Given the description of an element on the screen output the (x, y) to click on. 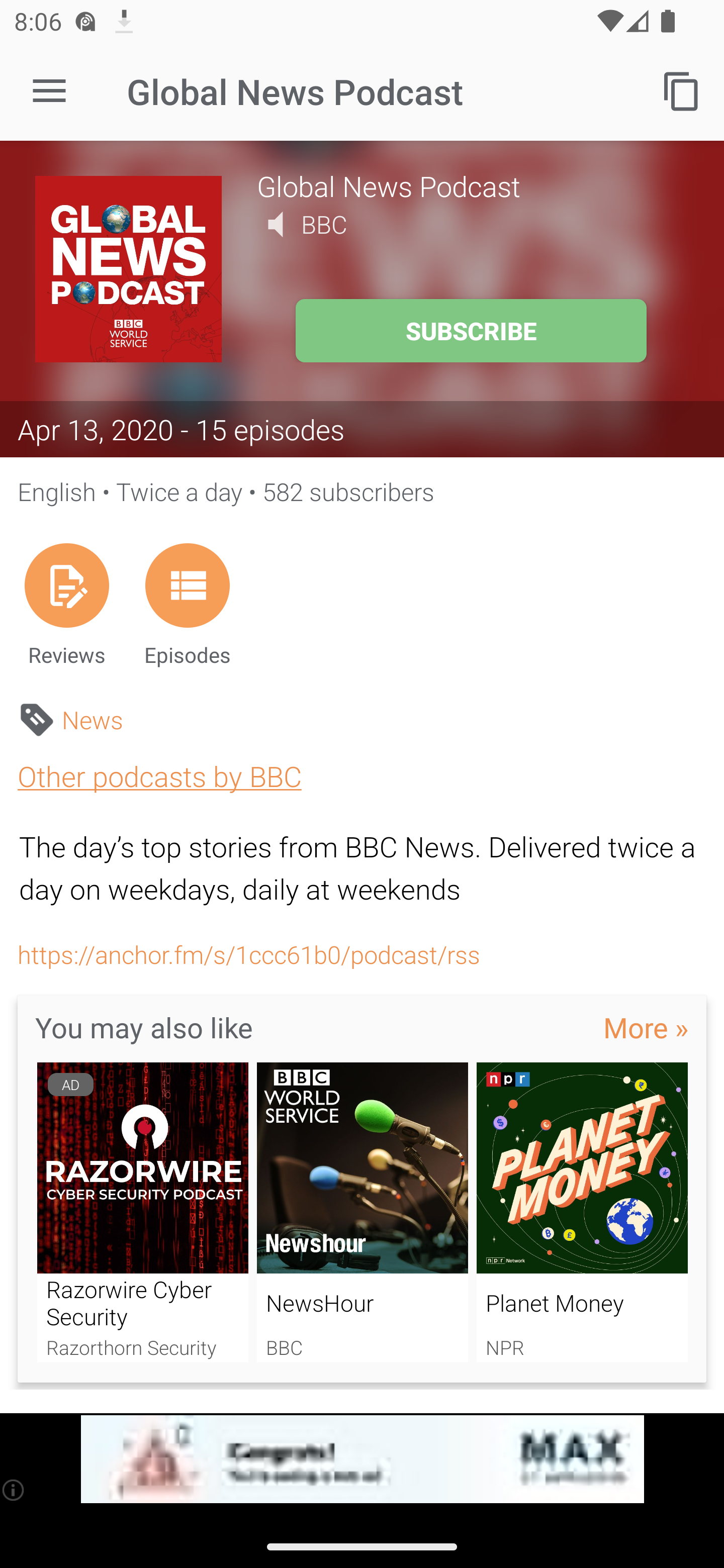
Open navigation sidebar (49, 91)
Copy feed url to clipboard (681, 90)
Global News Podcast (472, 185)
SUBSCRIBE (470, 330)
Reviews (66, 604)
Episodes (187, 604)
Other podcasts by BBC (159, 775)
More » (645, 1026)
AD Razorwire Cyber Security Razorthorn Security (142, 1212)
NewsHour BBC (362, 1212)
Planet Money NPR (581, 1212)
app-monetization (362, 1459)
(i) (14, 1489)
